Given the description of an element on the screen output the (x, y) to click on. 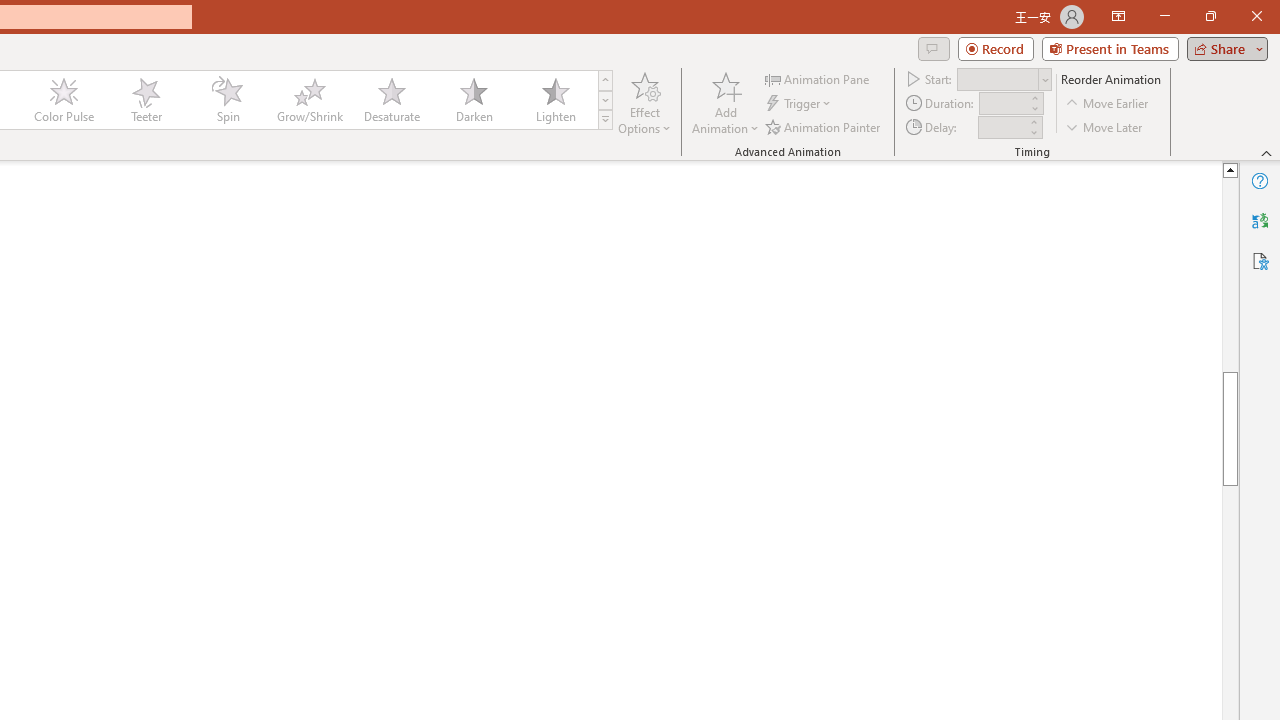
Animation Pane (818, 78)
Effect Options (644, 102)
Teeter (145, 100)
Grow/Shrink (309, 100)
Color Pulse (63, 100)
Animation Delay (1002, 127)
